Given the description of an element on the screen output the (x, y) to click on. 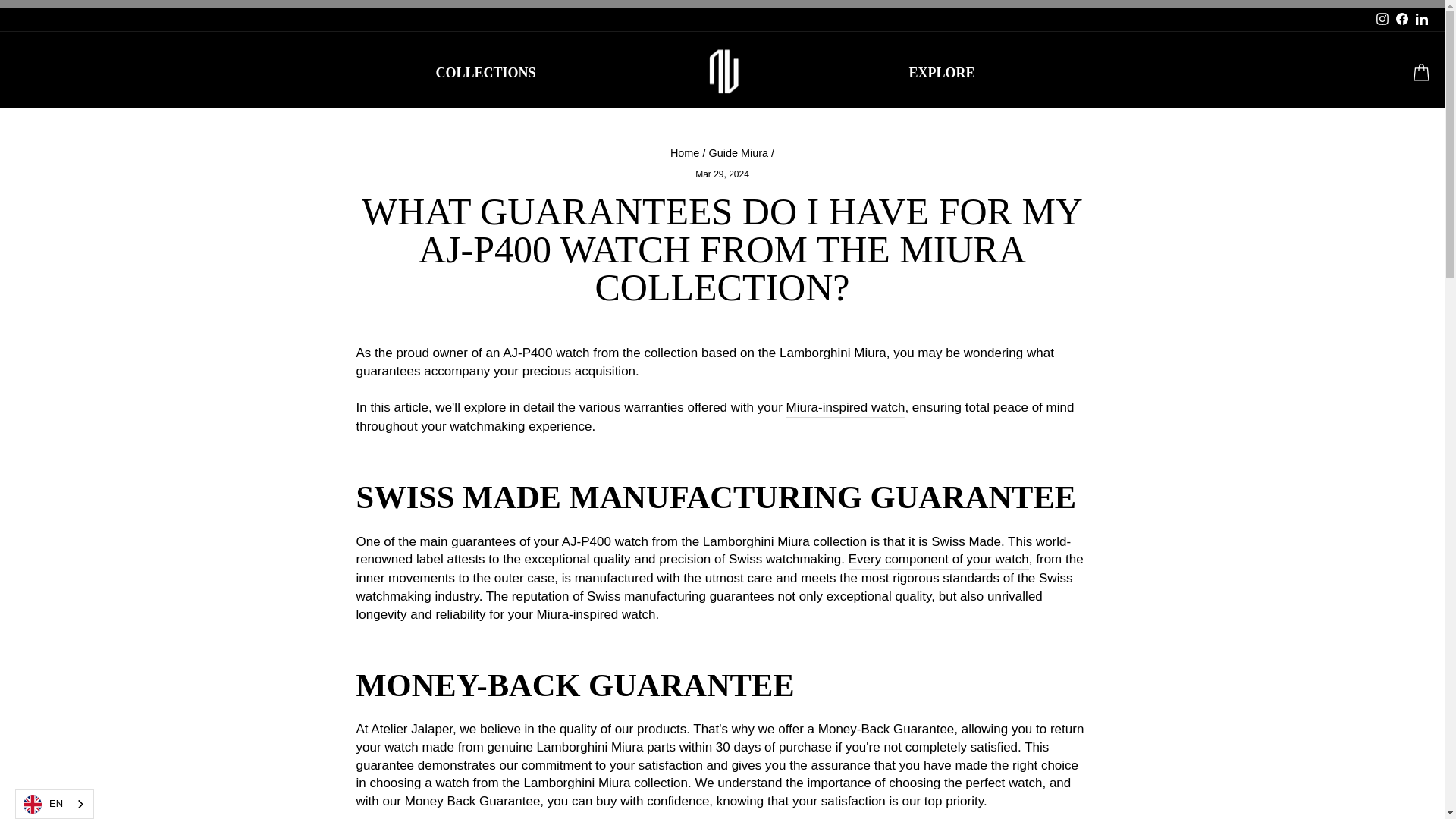
EXPLORE (940, 72)
COLLECTIONS (486, 72)
CART (1420, 72)
Back to the frontpage (684, 152)
